Given the description of an element on the screen output the (x, y) to click on. 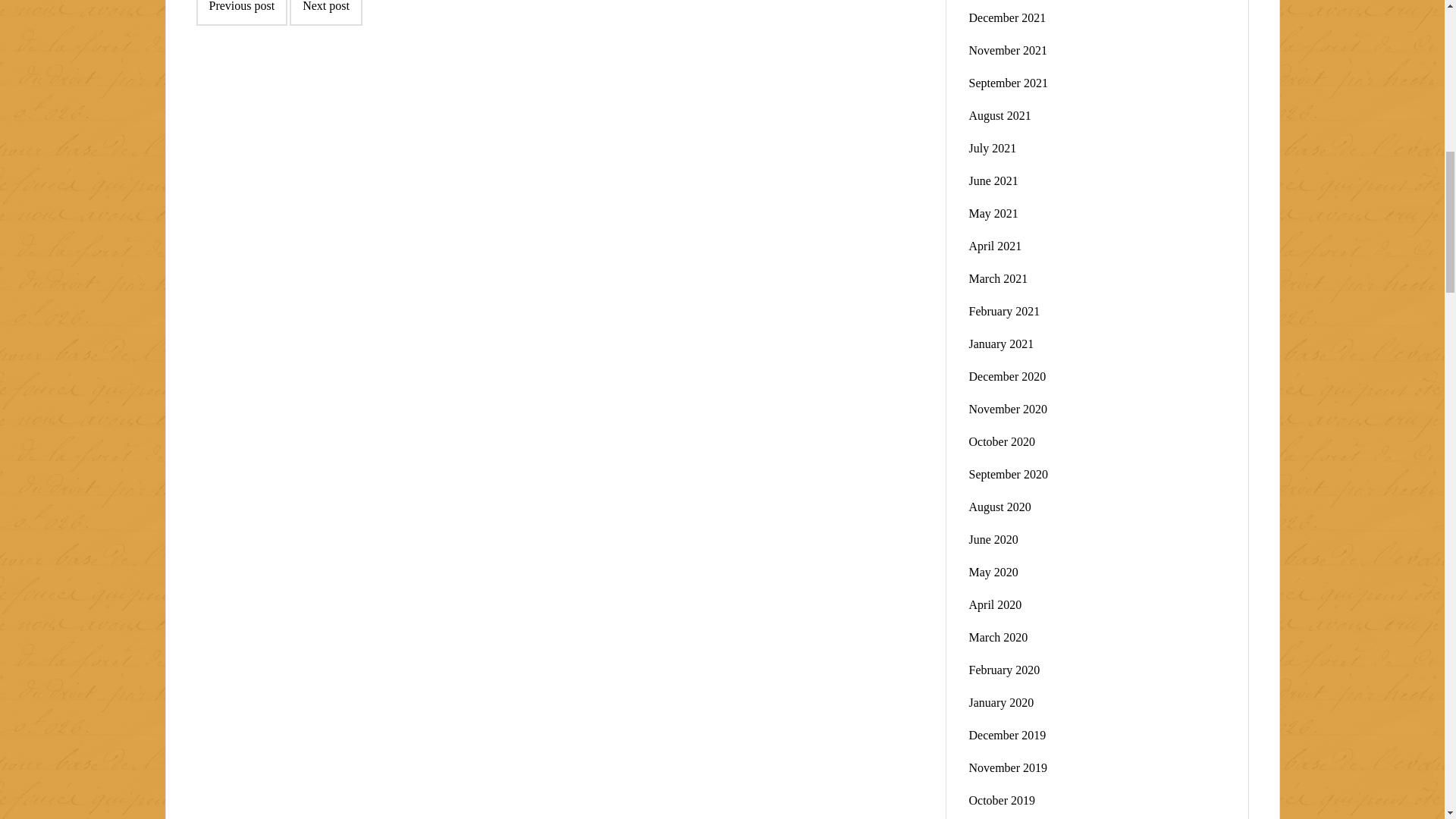
March 2020 (998, 636)
April 2020 (995, 604)
February 2021 (1005, 310)
November 2021 (1008, 50)
August 2020 (999, 506)
Previous post (240, 12)
November 2020 (1008, 408)
May 2021 (993, 213)
August 2021 (999, 115)
Next post (325, 12)
March 2021 (998, 278)
September 2021 (1008, 82)
May 2020 (993, 571)
February 2020 (1005, 669)
April 2021 (995, 245)
